Given the description of an element on the screen output the (x, y) to click on. 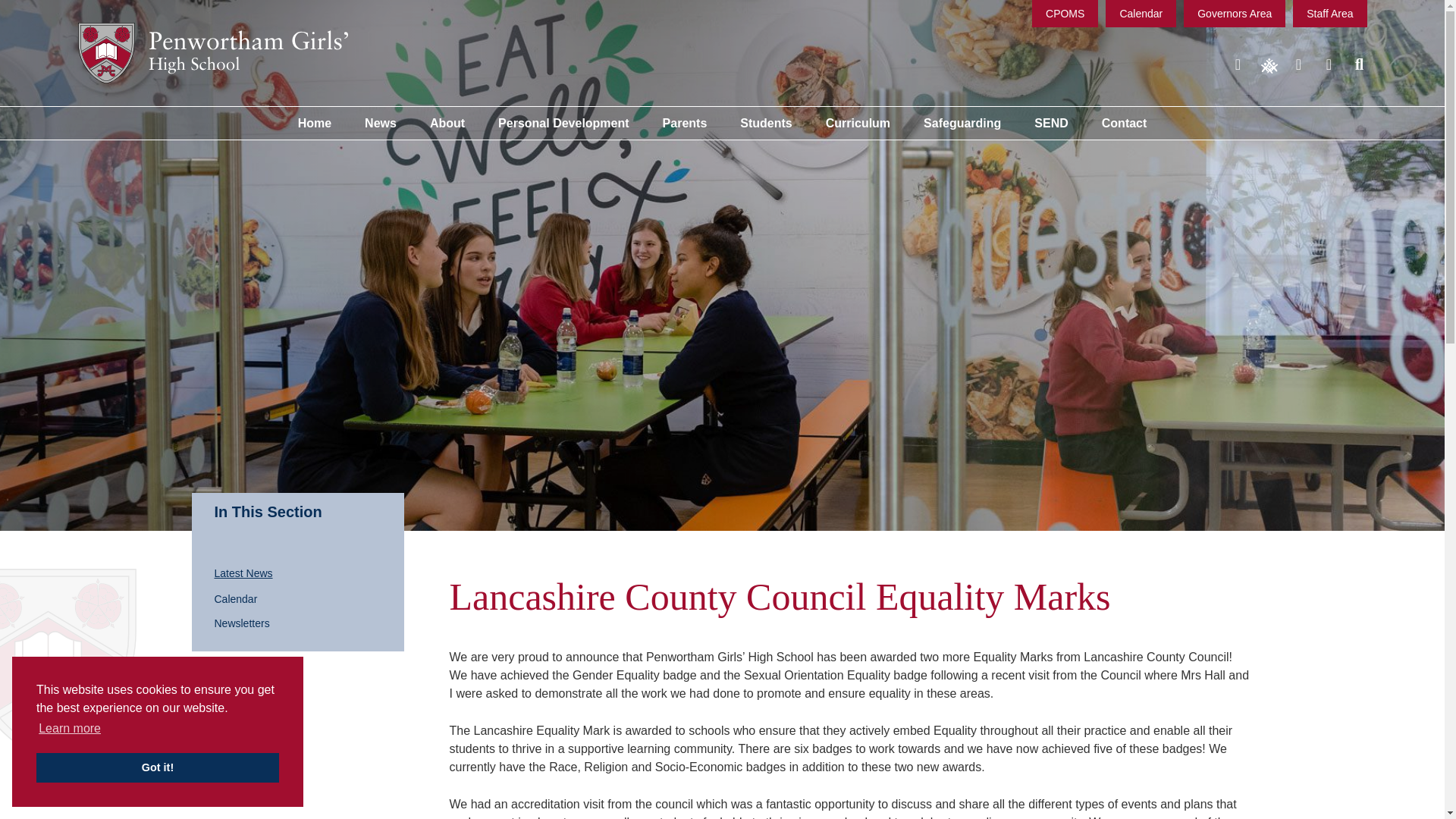
Learn more (69, 728)
Got it! (157, 767)
